Given the description of an element on the screen output the (x, y) to click on. 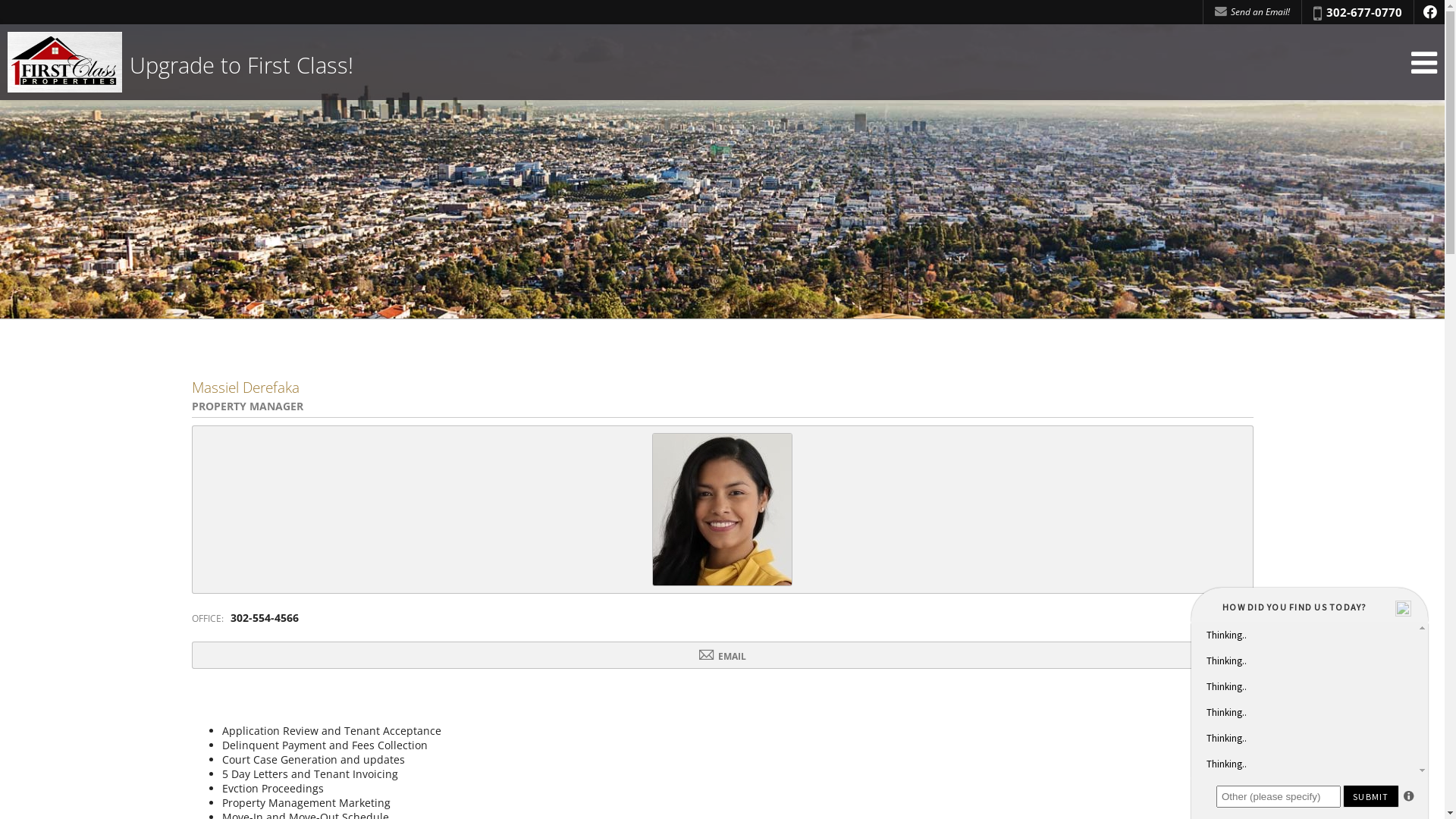
EMAIL Element type: text (721, 654)
Send an Email! Element type: text (1252, 12)
f Element type: text (1429, 12)
Upgrade to First Class! Element type: text (180, 61)
